Given the description of an element on the screen output the (x, y) to click on. 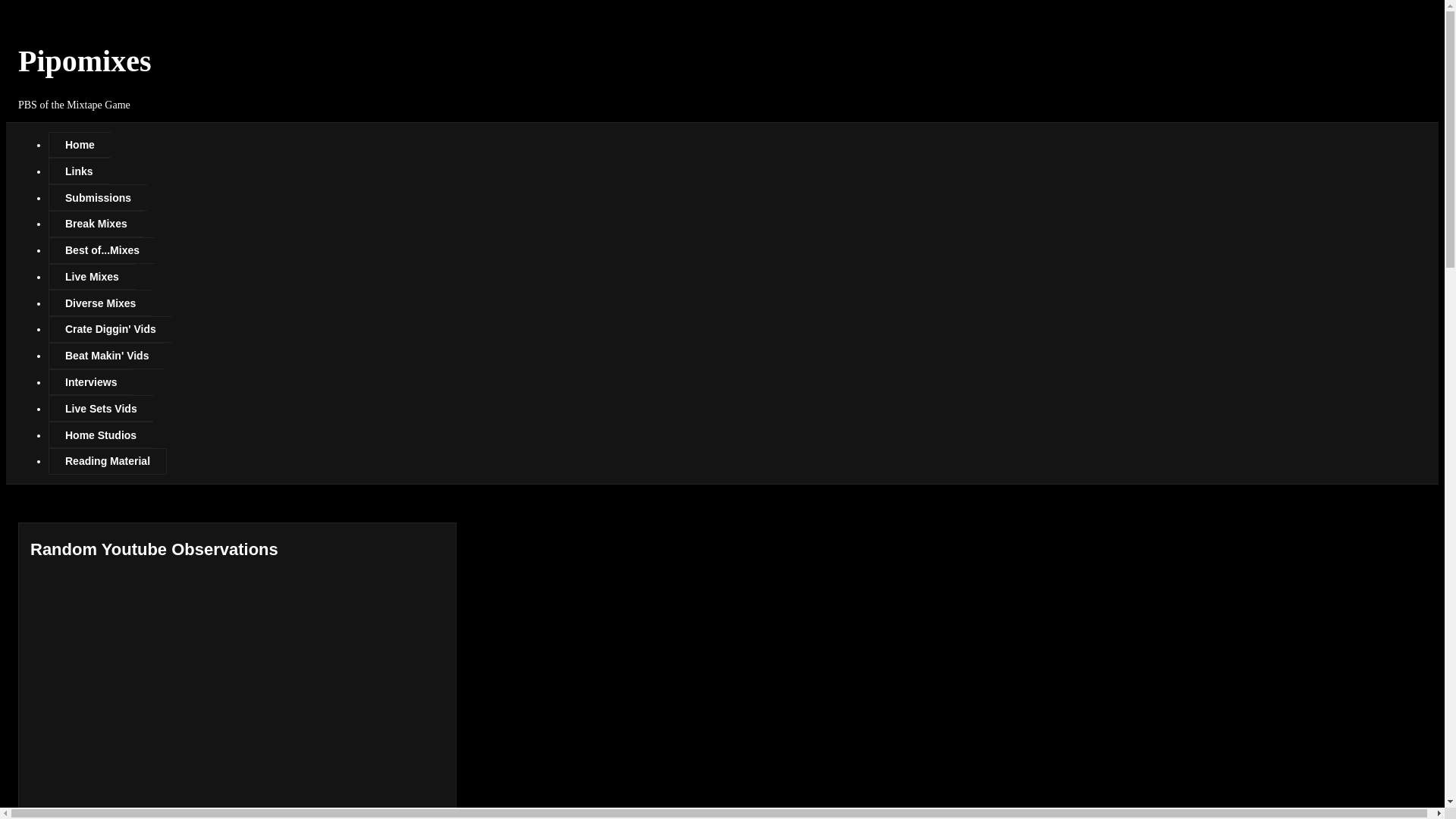
Interviews (90, 382)
Pipomixes (84, 60)
Crate Diggin' Vids (109, 329)
Links (78, 171)
Home (79, 144)
Reading Material (107, 461)
Live Mixes (91, 276)
Home Studios (100, 434)
Beat Makin' Vids (106, 356)
Break Mixes (95, 223)
